Given the description of an element on the screen output the (x, y) to click on. 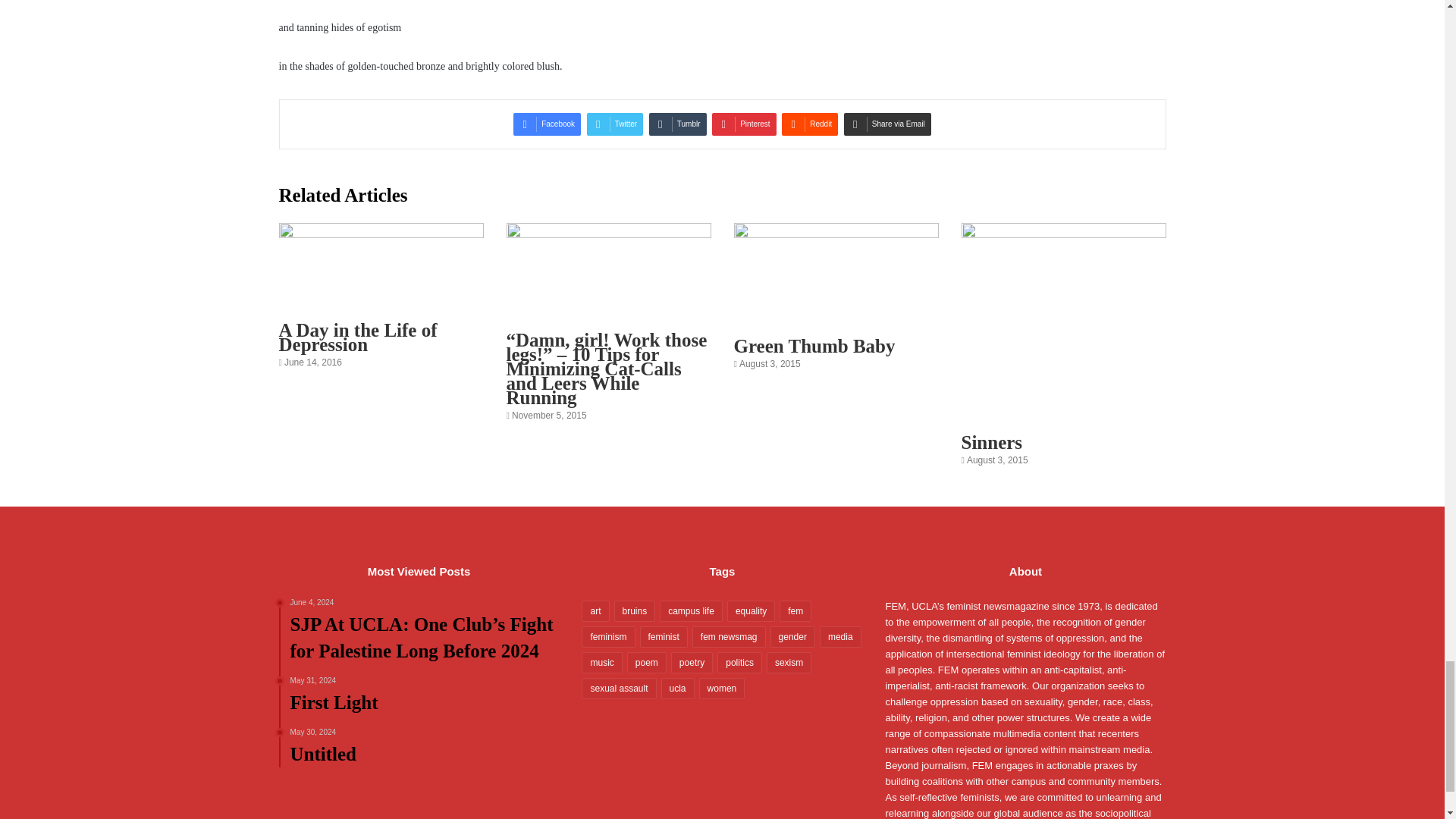
Pinterest (743, 124)
Green Thumb Baby (814, 345)
Twitter (614, 124)
Sinners (991, 442)
Tumblr (677, 124)
Reddit (809, 124)
Pinterest (743, 124)
A Day in the Life of Depression (358, 337)
Twitter (614, 124)
Share via Email (887, 124)
